Given the description of an element on the screen output the (x, y) to click on. 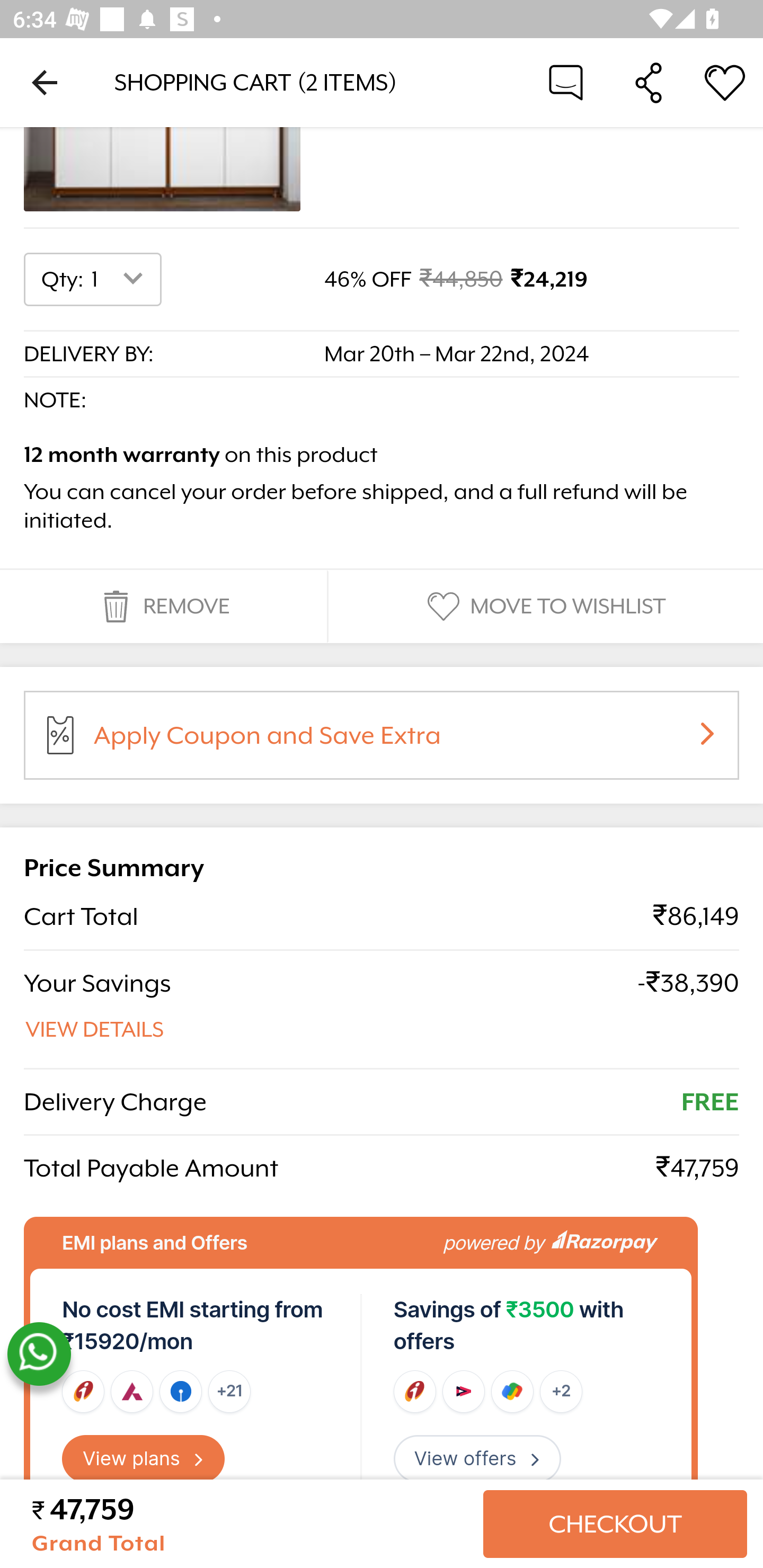
Navigate up (44, 82)
Chat (565, 81)
Share Cart (648, 81)
Wishlist (724, 81)
1 (121, 280)
REMOVE (163, 607)
MOVE TO WISHLIST (544, 607)
Apply Coupon and Save Extra (402, 743)
VIEW DETAILS (95, 1030)
whatsapp (38, 1354)
View plans (143, 1459)
View offers (476, 1459)
₹ 47,759 Grand Total (250, 1524)
CHECKOUT (614, 1524)
